Given the description of an element on the screen output the (x, y) to click on. 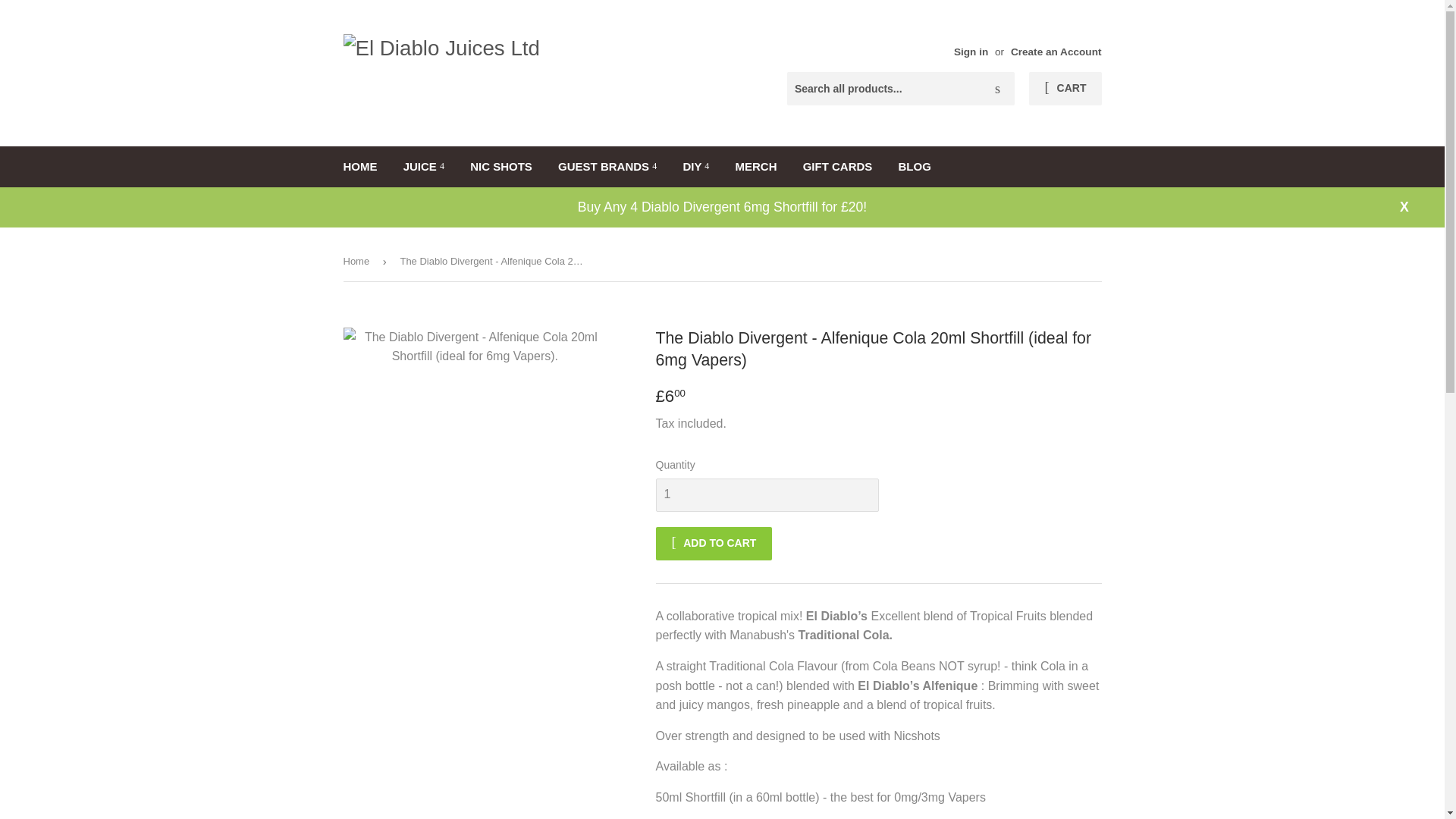
Search (996, 89)
1 (766, 494)
Create an Account (1056, 51)
HOME (359, 166)
Sign in (970, 51)
CART (1064, 88)
JUICE (423, 166)
